Given the description of an element on the screen output the (x, y) to click on. 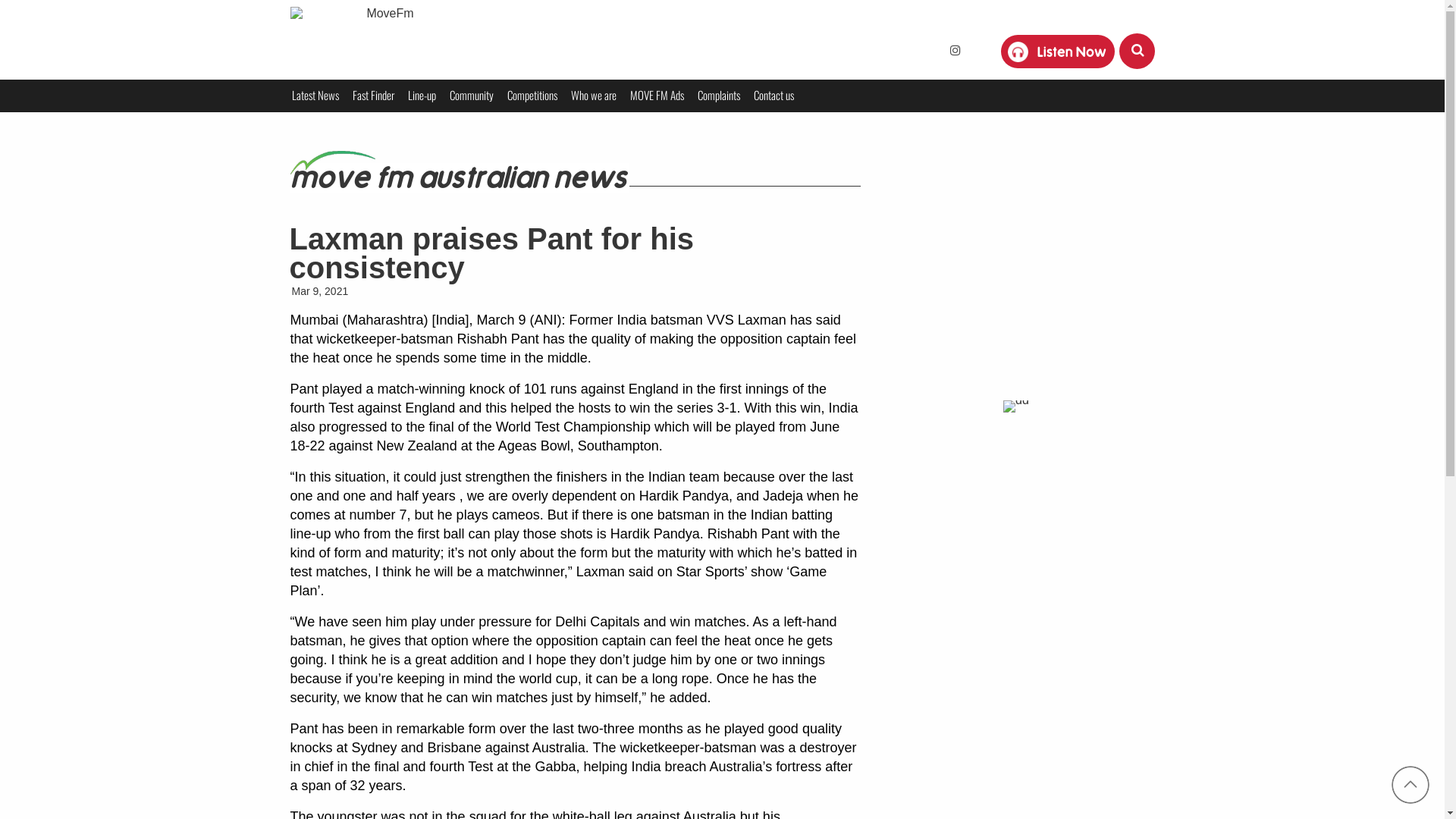
Complaints Element type: text (718, 95)
Search Element type: text (17, 17)
Who we are Element type: text (593, 95)
top Element type: text (1410, 784)
Advertisement Element type: hover (1015, 275)
MOVE FM Ads Element type: text (656, 95)
Listen Now Element type: text (1071, 51)
Latest News Element type: text (315, 95)
Fast Finder Element type: text (373, 95)
Community Element type: text (471, 95)
Competitions Element type: text (532, 95)
Line-up Element type: text (421, 95)
Contact us Element type: text (773, 95)
